Given the description of an element on the screen output the (x, y) to click on. 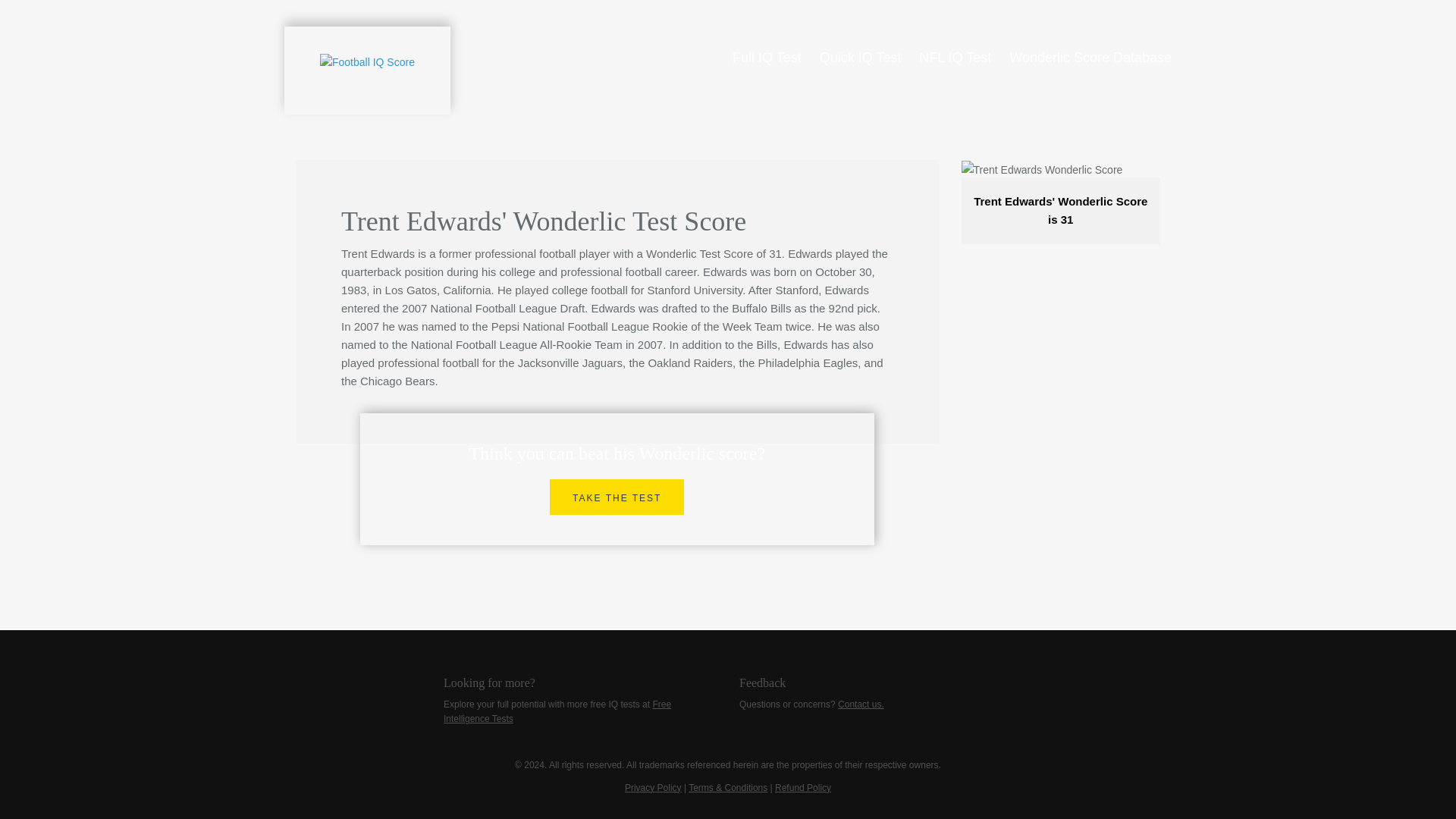
Contact us. (860, 704)
Quick IQ Test (860, 57)
TAKE THE TEST (617, 497)
Wonderlic Score Database (1090, 57)
Free Intelligence Tests (557, 711)
Home (366, 70)
Refund Policy (802, 787)
Privacy Policy (652, 787)
Full IQ Test (767, 57)
NFL IQ Test (954, 57)
